Given the description of an element on the screen output the (x, y) to click on. 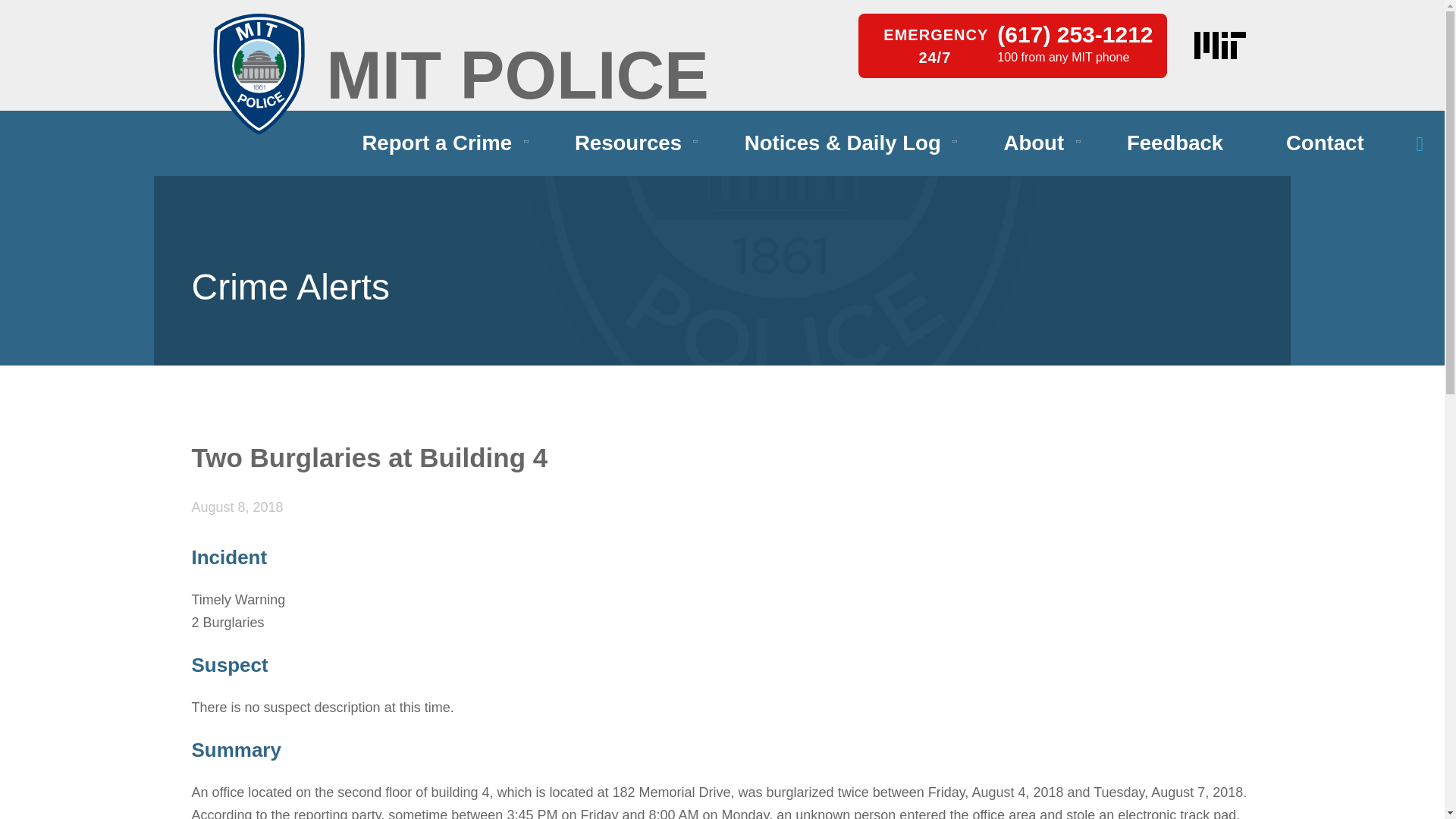
Report a Crime (436, 143)
Home (517, 75)
Resources (628, 143)
Home (258, 74)
About (1033, 143)
MIT POLICE (517, 75)
